Given the description of an element on the screen output the (x, y) to click on. 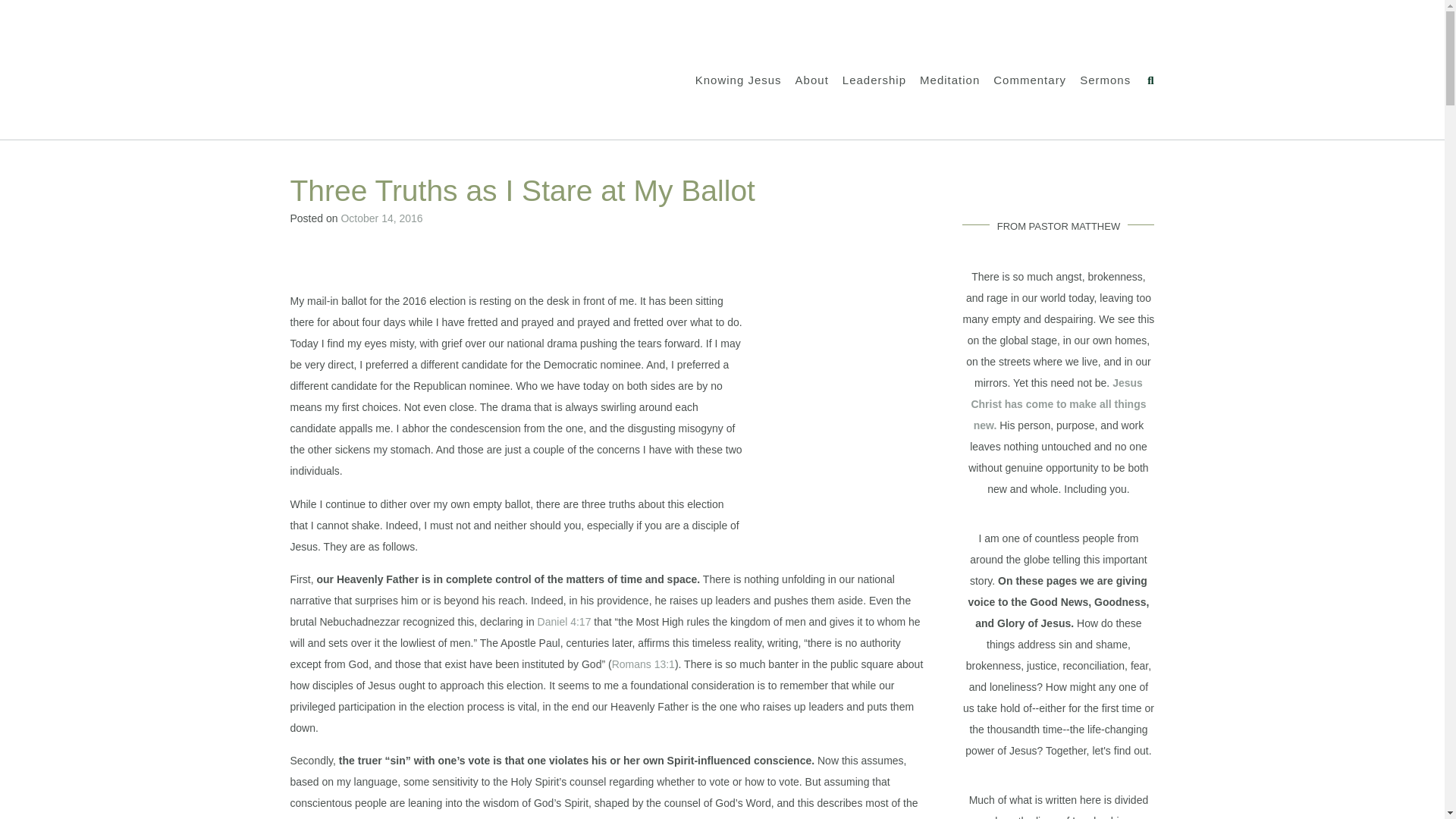
Commentary (1028, 80)
Romans 13:1 (643, 664)
About (811, 80)
Sermons (1105, 80)
Knowing Jesus (738, 80)
Leadership (874, 80)
October 14, 2016 (381, 218)
Daniel 4:17 (564, 621)
Meditation (949, 80)
